Given the description of an element on the screen output the (x, y) to click on. 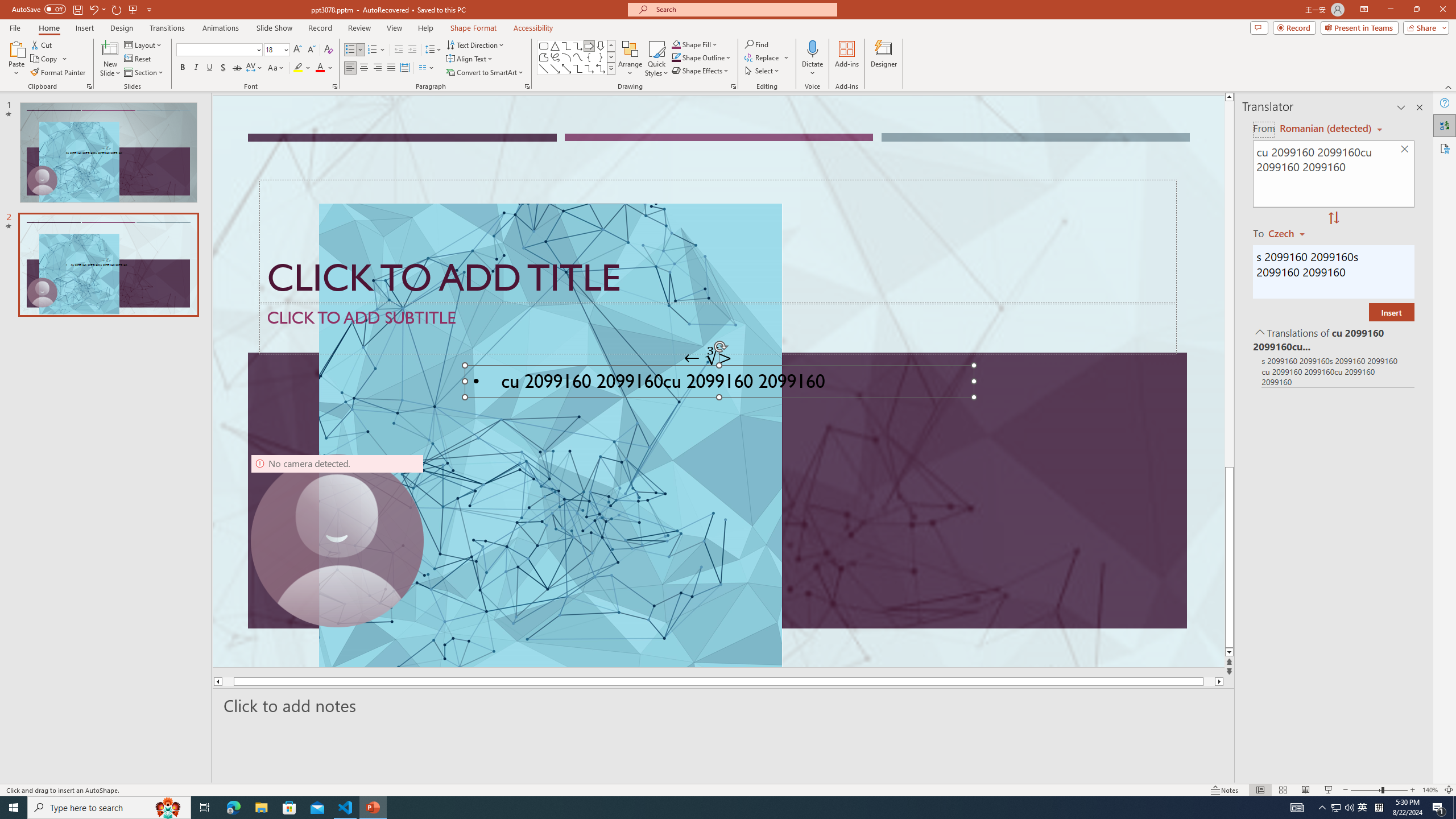
Translations of cu 2099160 2099160cu 2099160 2099160 (1333, 338)
